Given the description of an element on the screen output the (x, y) to click on. 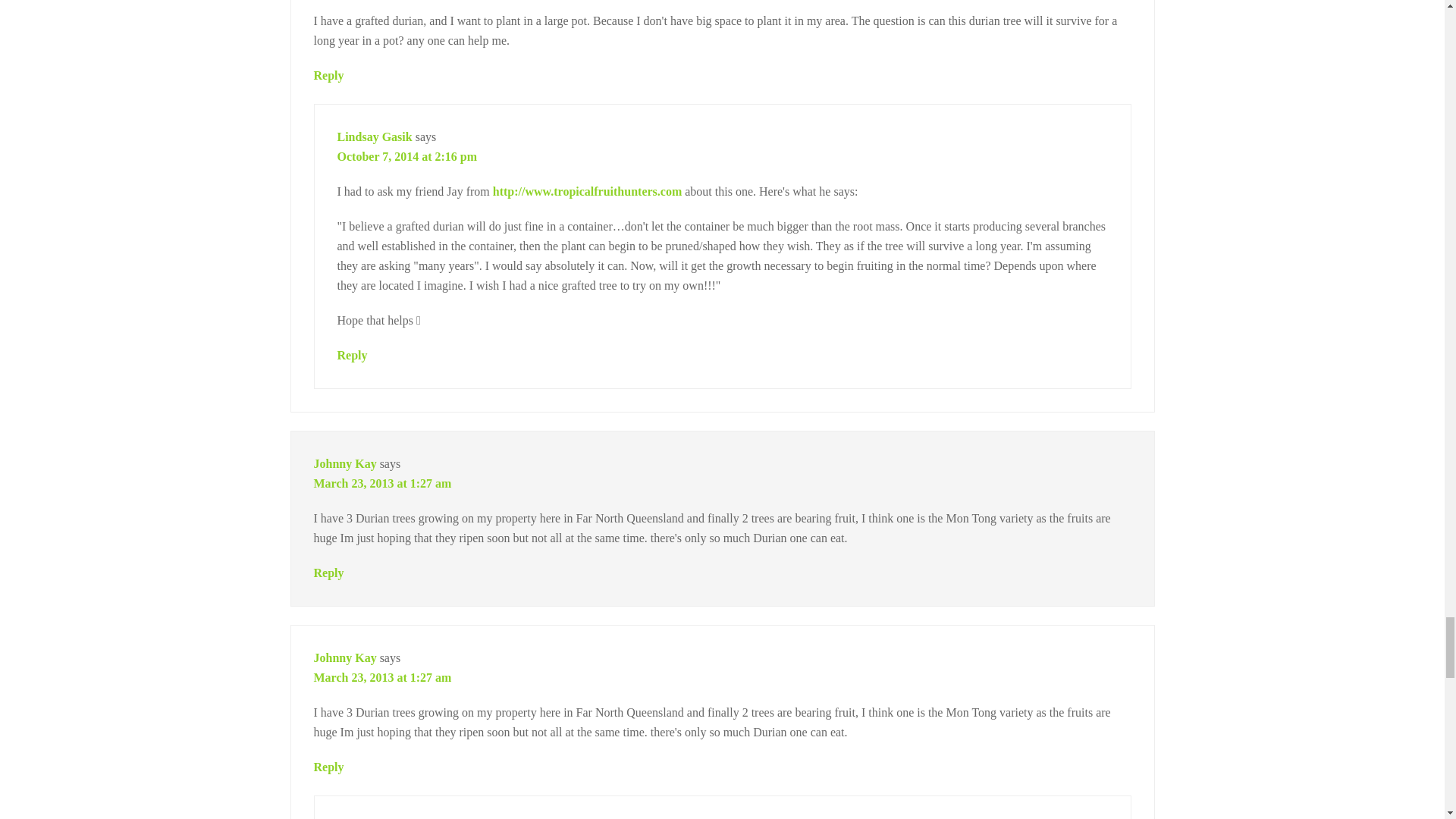
Reply (351, 354)
Reply (328, 572)
Johnny Kay (345, 463)
October 7, 2014 at 2:16 pm (406, 155)
Lindsay Gasik (374, 136)
Reply (328, 74)
March 23, 2013 at 1:27 am (382, 482)
